Given the description of an element on the screen output the (x, y) to click on. 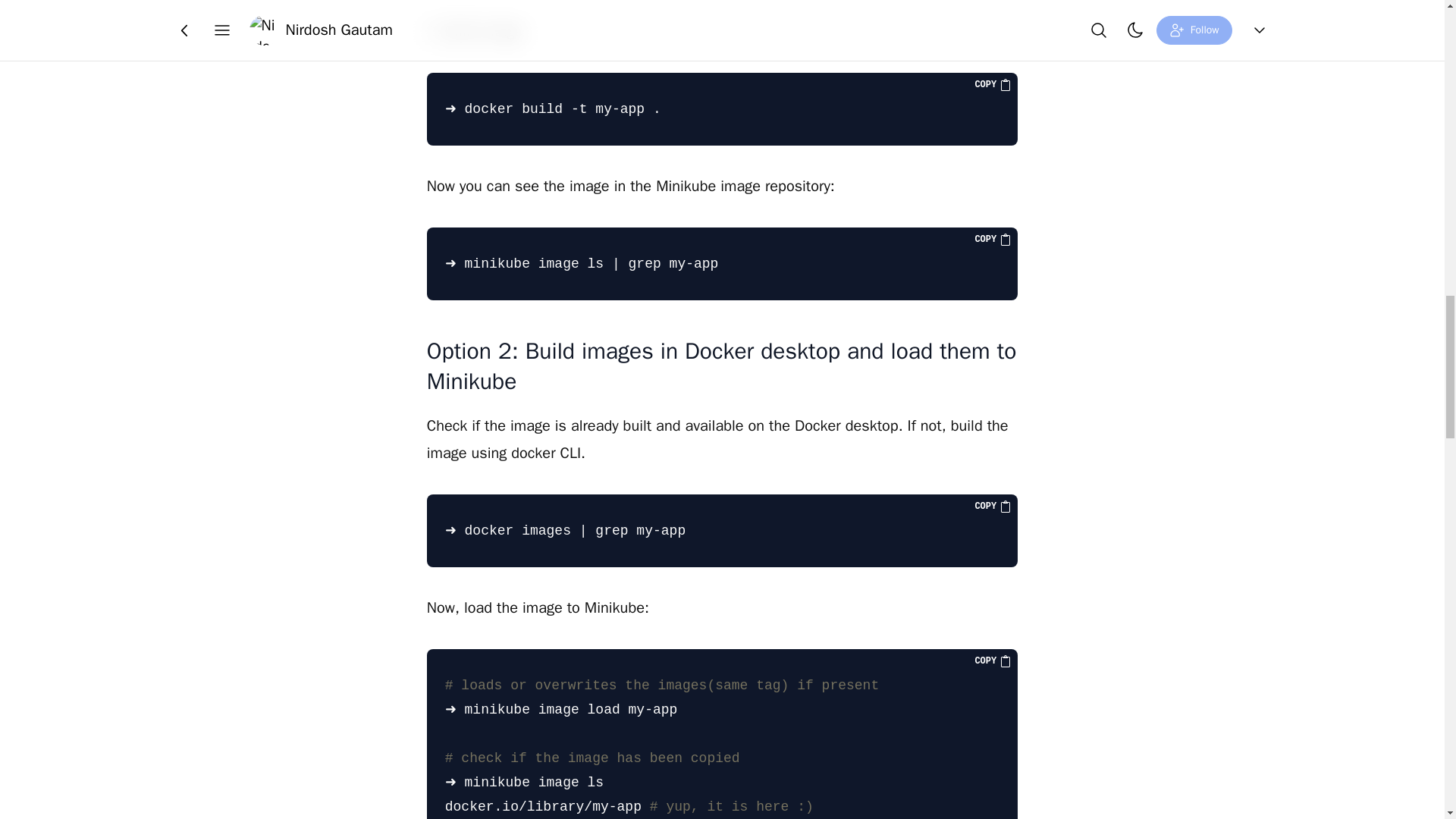
COPY (992, 661)
COPY (992, 506)
COPY (992, 84)
COPY (992, 239)
